Given the description of an element on the screen output the (x, y) to click on. 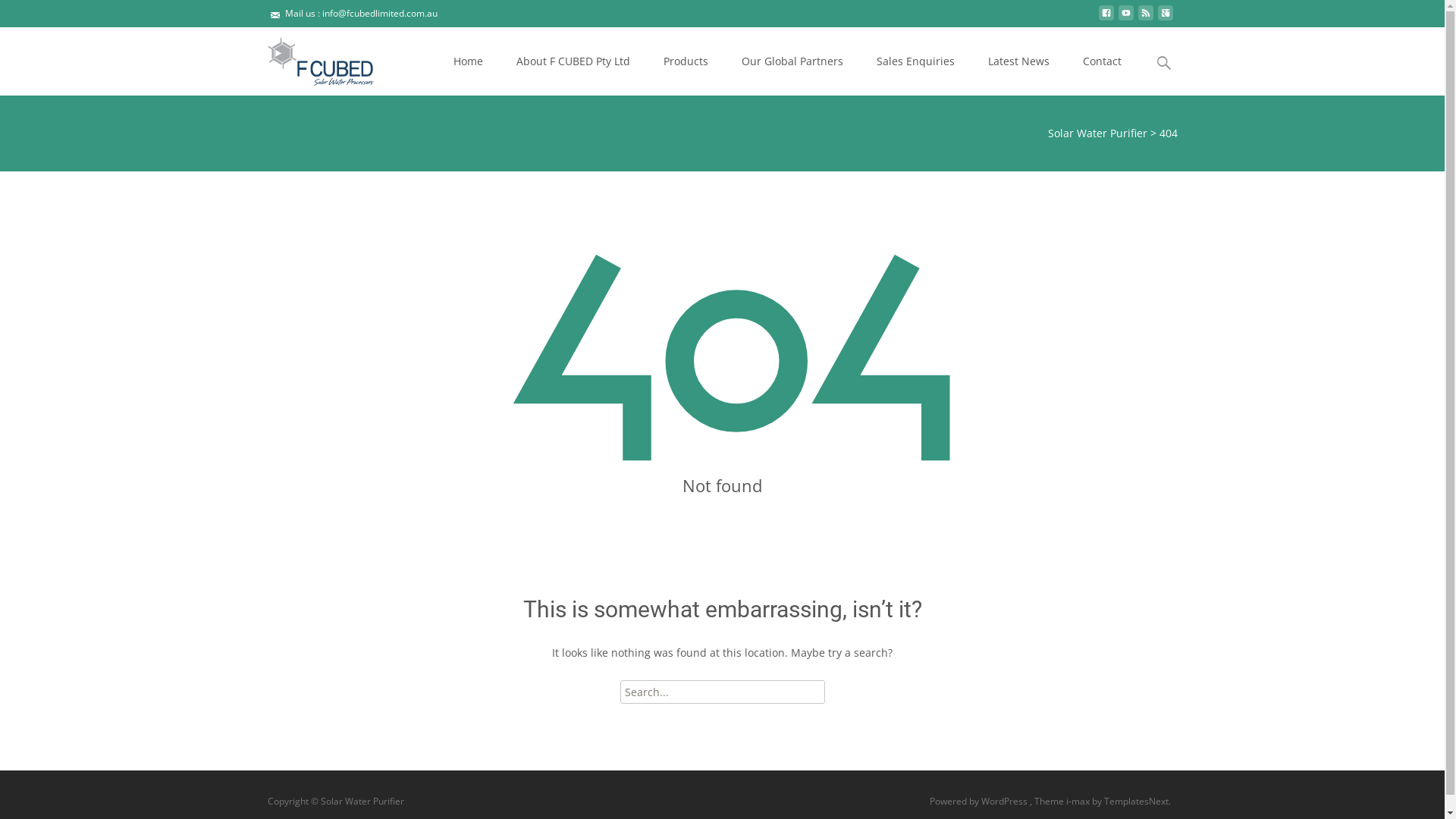
Solar Water Purifier Element type: text (1097, 132)
Sales Enquiries Element type: text (915, 61)
feed Element type: hover (1144, 18)
youtube Element type: hover (1124, 18)
facebook Element type: hover (1105, 18)
About F CUBED Pty Ltd Element type: text (572, 61)
Search Element type: text (35, 15)
Powered by WordPress Element type: text (979, 800)
Search for: Element type: hover (1163, 63)
Our Global Partners Element type: text (792, 61)
Contact Element type: text (1101, 61)
404 Element type: text (1167, 132)
Products Element type: text (684, 61)
Search Element type: text (18, 15)
Skip to content Element type: text (436, 26)
i-max Element type: text (1079, 800)
Solar Water Purifier Element type: hover (307, 57)
googleplus Element type: hover (1164, 18)
Home Element type: text (468, 61)
Latest News Element type: text (1017, 61)
Search for: Element type: hover (722, 691)
